Given the description of an element on the screen output the (x, y) to click on. 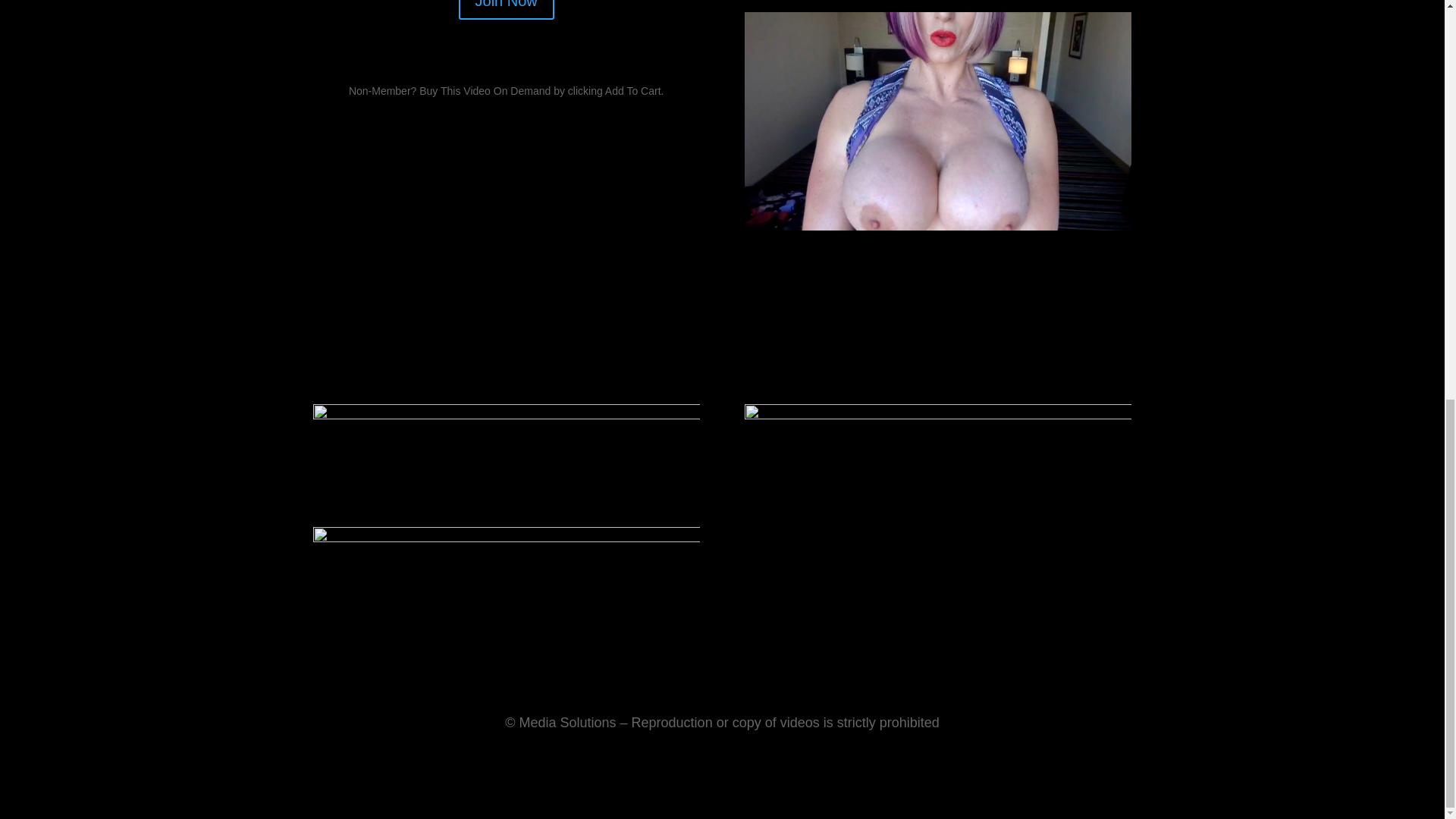
Screen Shot 2023-10-31 at 92751 AM (937, 226)
BB-Banner-1 (505, 454)
Join Now (506, 9)
HerSockSlave Banner (505, 591)
